Given the description of an element on the screen output the (x, y) to click on. 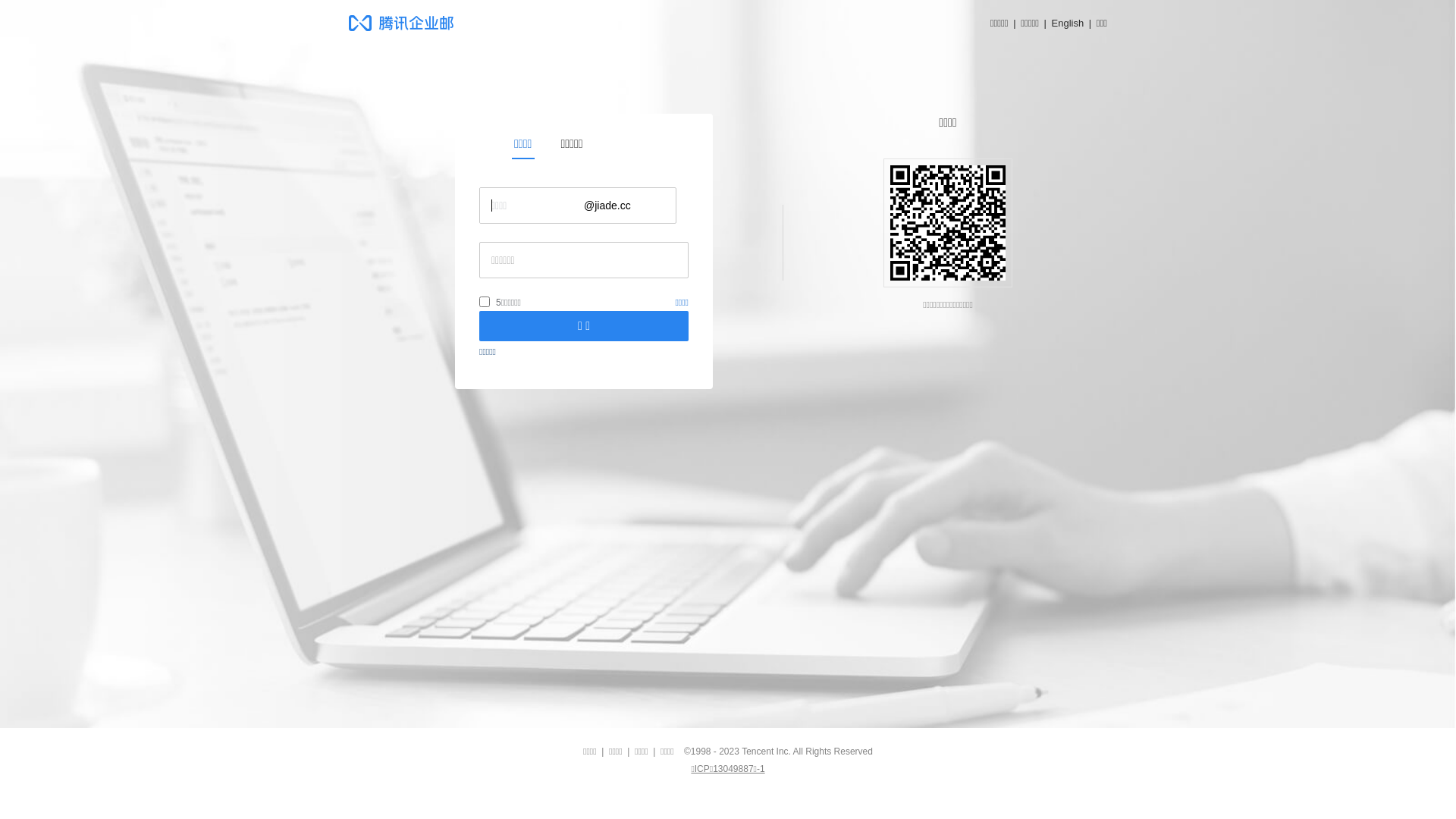
English Element type: text (1067, 22)
